Given the description of an element on the screen output the (x, y) to click on. 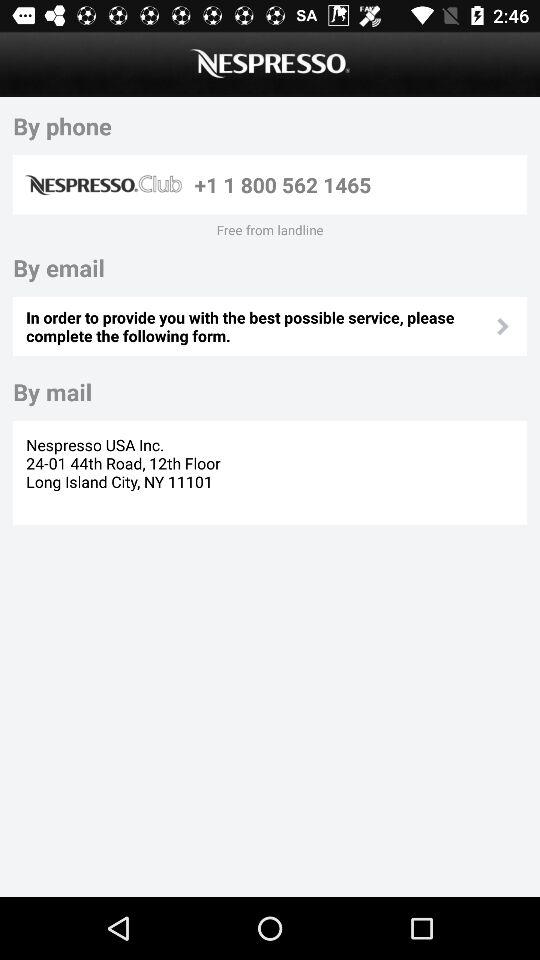
launch 1 1 800 (357, 184)
